Given the description of an element on the screen output the (x, y) to click on. 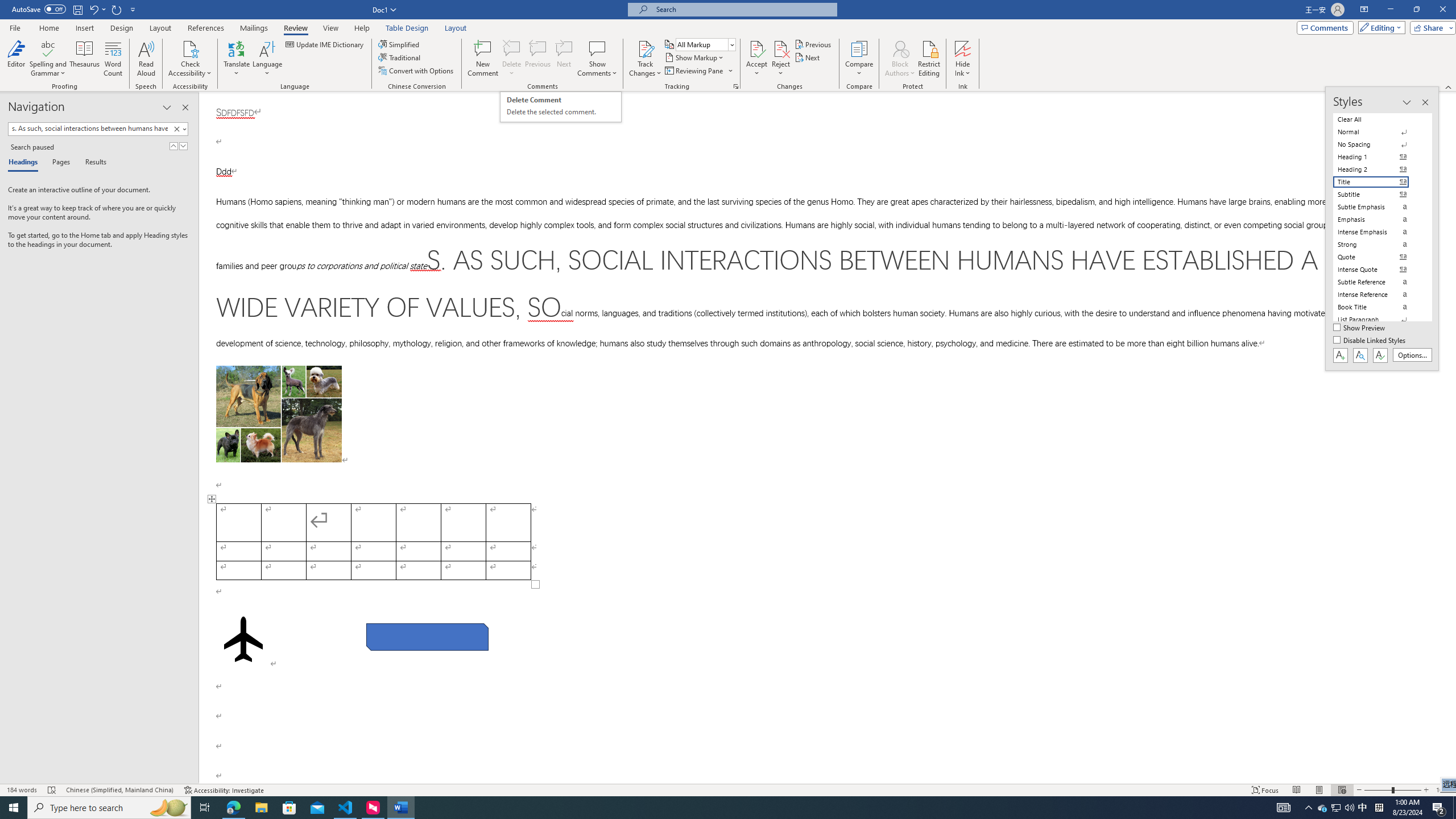
Check Accessibility (189, 58)
Emphasis (1377, 219)
Show Comments (597, 48)
Change Tracking Options... (735, 85)
Thesaurus... (84, 58)
Previous Result (173, 145)
Morphological variation in six dogs (278, 414)
Track Changes (644, 48)
Clear (178, 128)
Spelling and Grammar (48, 58)
Intense Emphasis (1377, 232)
